Given the description of an element on the screen output the (x, y) to click on. 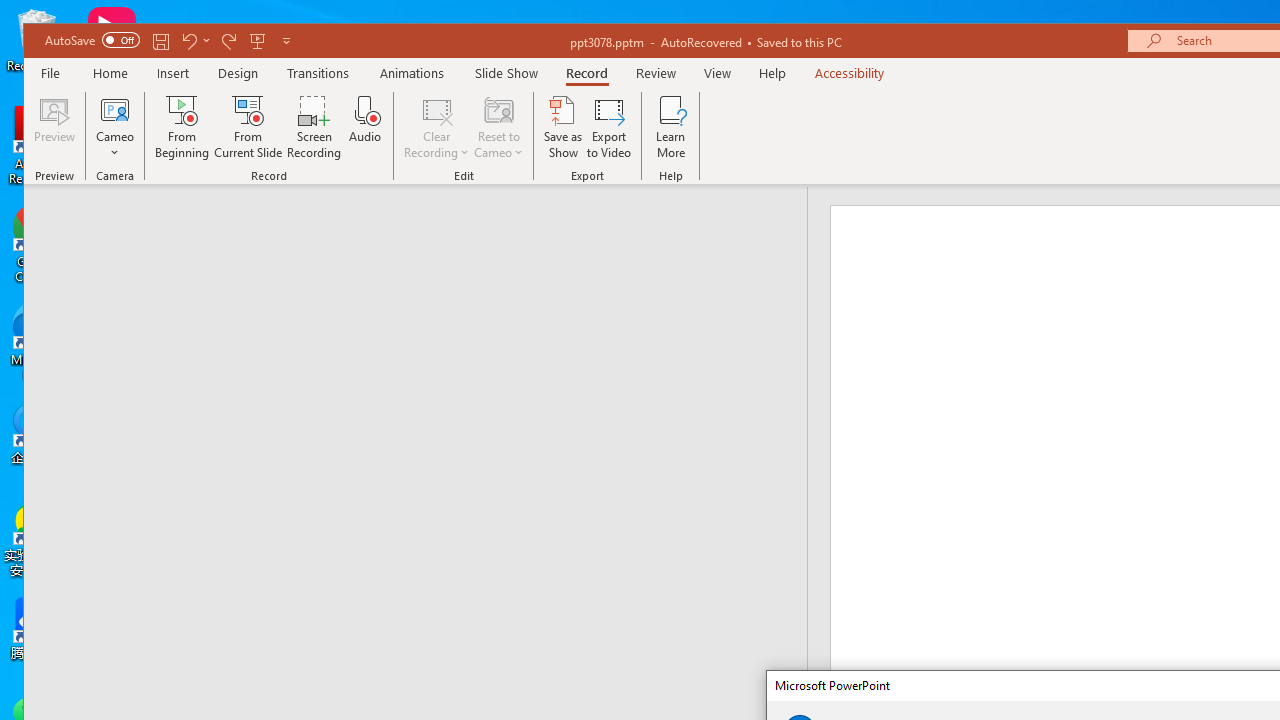
Save as Show (562, 127)
Screen Recording (314, 127)
Audio (365, 127)
Preview (55, 127)
